Given the description of an element on the screen output the (x, y) to click on. 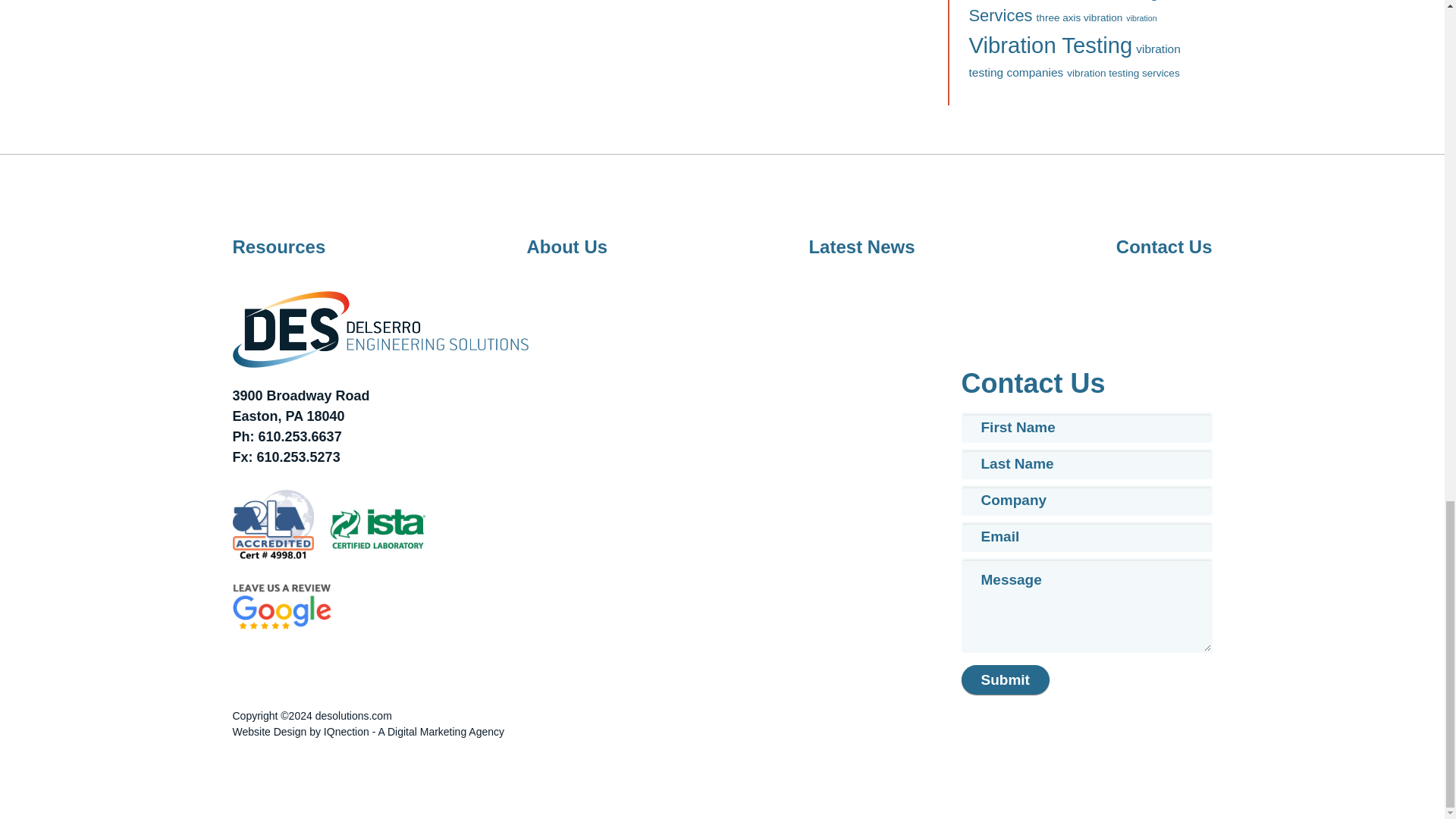
Submit (1004, 679)
